Given the description of an element on the screen output the (x, y) to click on. 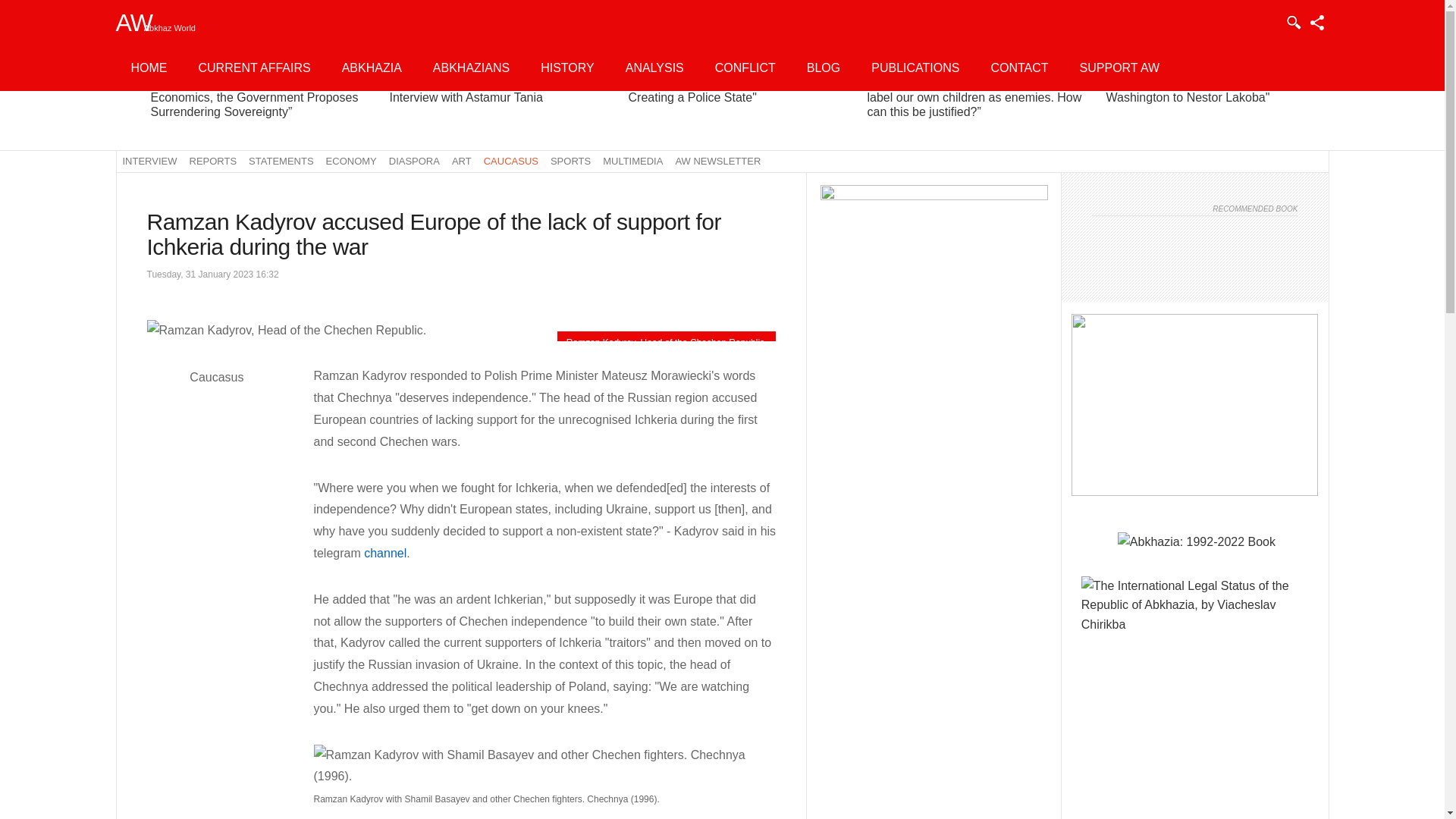
HOME (148, 67)
INTERVIEW (149, 160)
ECONOMY (351, 160)
CONTACT (1018, 67)
ART (461, 160)
CAUCASUS (510, 160)
CURRENT AFFAIRS (254, 67)
SUPPORT AW (1119, 67)
ABKHAZIA (371, 67)
STATEMENTS (280, 160)
AW NEWSLETTER (717, 160)
ABKHAZIANS (470, 67)
HISTORY (567, 67)
PUBLICATIONS (915, 67)
